Given the description of an element on the screen output the (x, y) to click on. 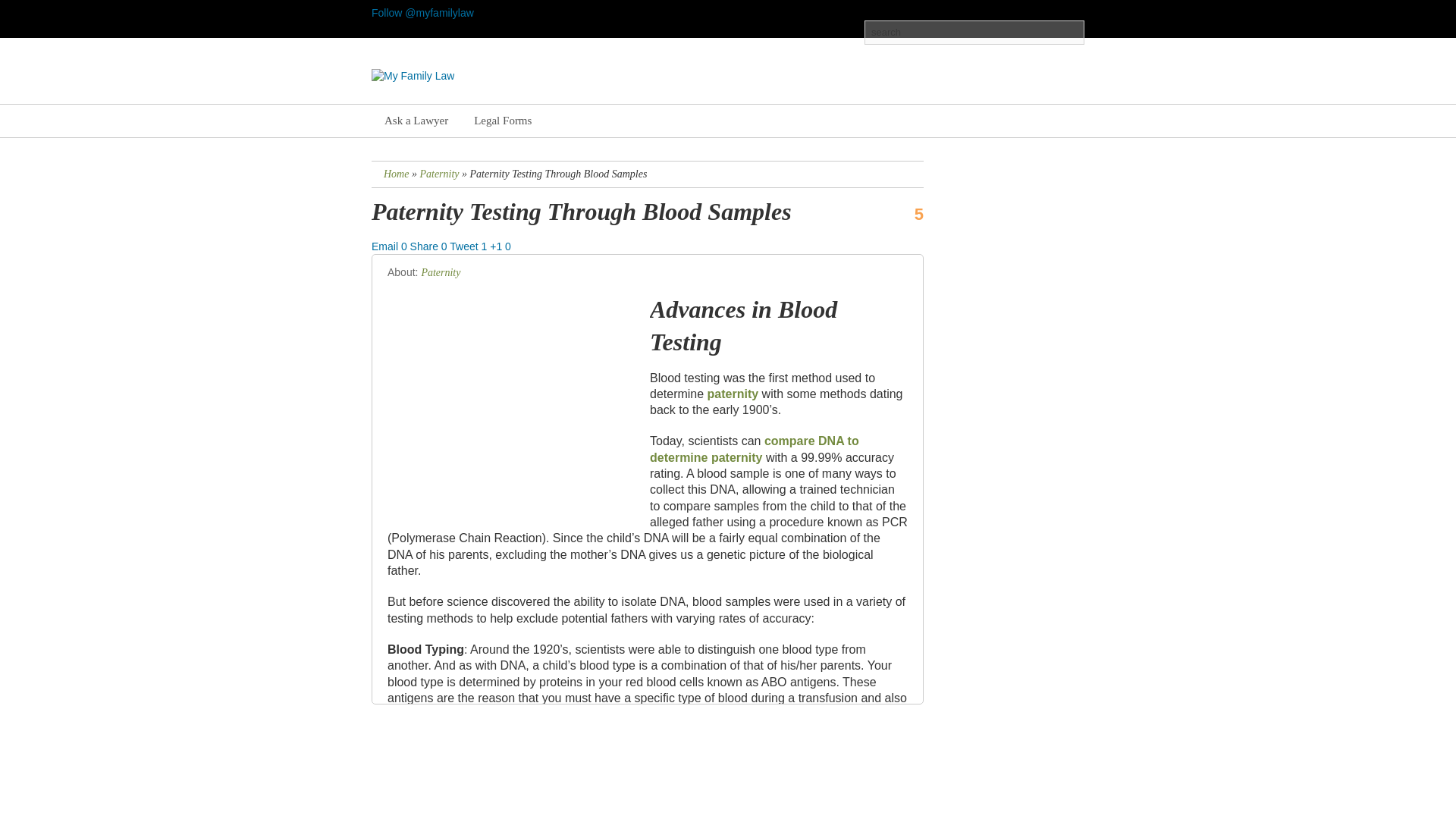
Paternity Testing Through Blood Samples (581, 211)
Ask a Lawyer (416, 120)
Legal Forms (502, 120)
paternity (732, 393)
5 (907, 214)
Home (396, 173)
Email 0 (390, 246)
Paternity (438, 173)
search (974, 32)
Paternity (440, 272)
